Given the description of an element on the screen output the (x, y) to click on. 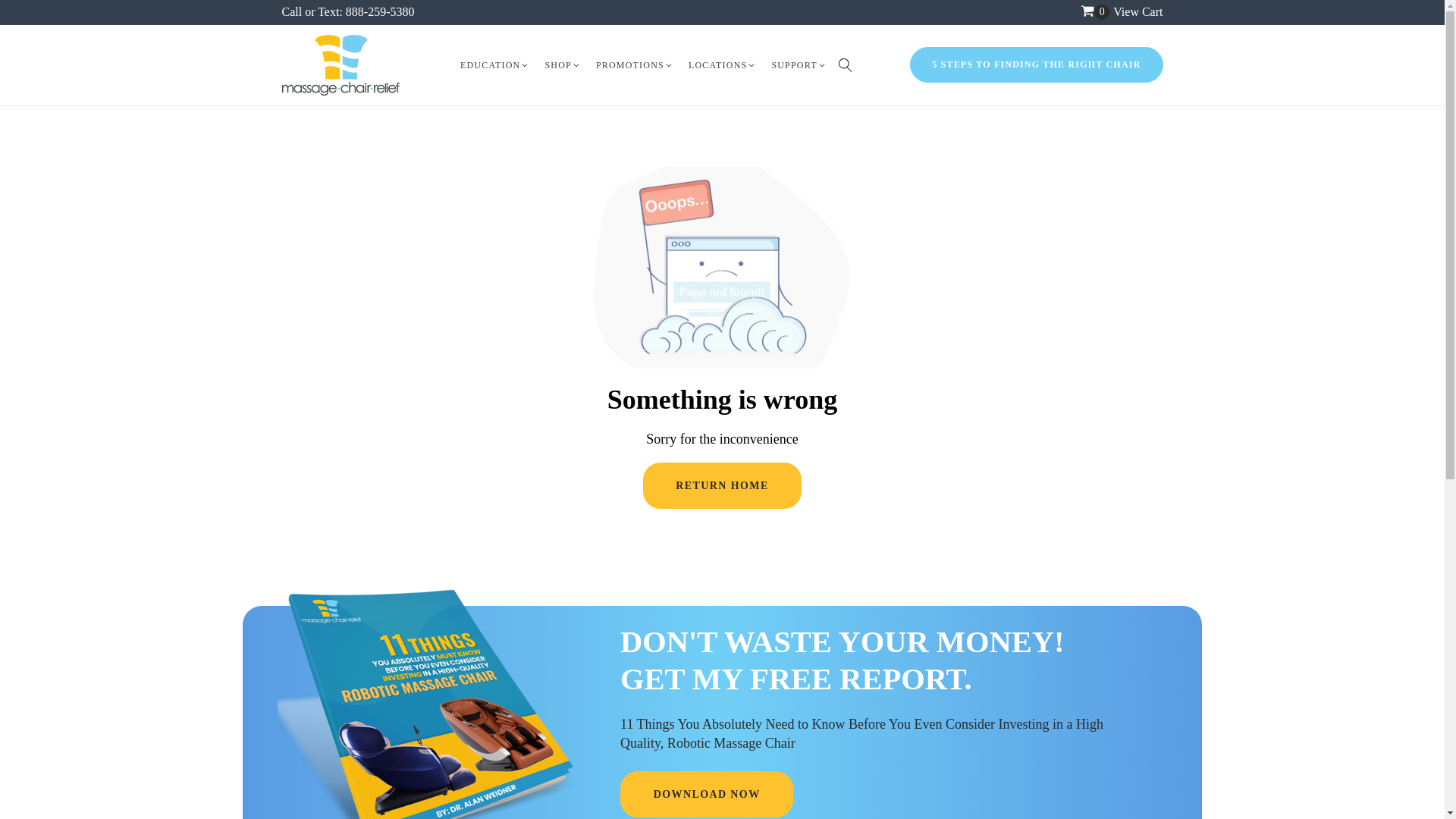
View Cart (1137, 11)
SHOP (562, 65)
Go to Cart (1094, 12)
Call or Text: 888-259-5380 (348, 11)
EDUCATION (494, 65)
